Given the description of an element on the screen output the (x, y) to click on. 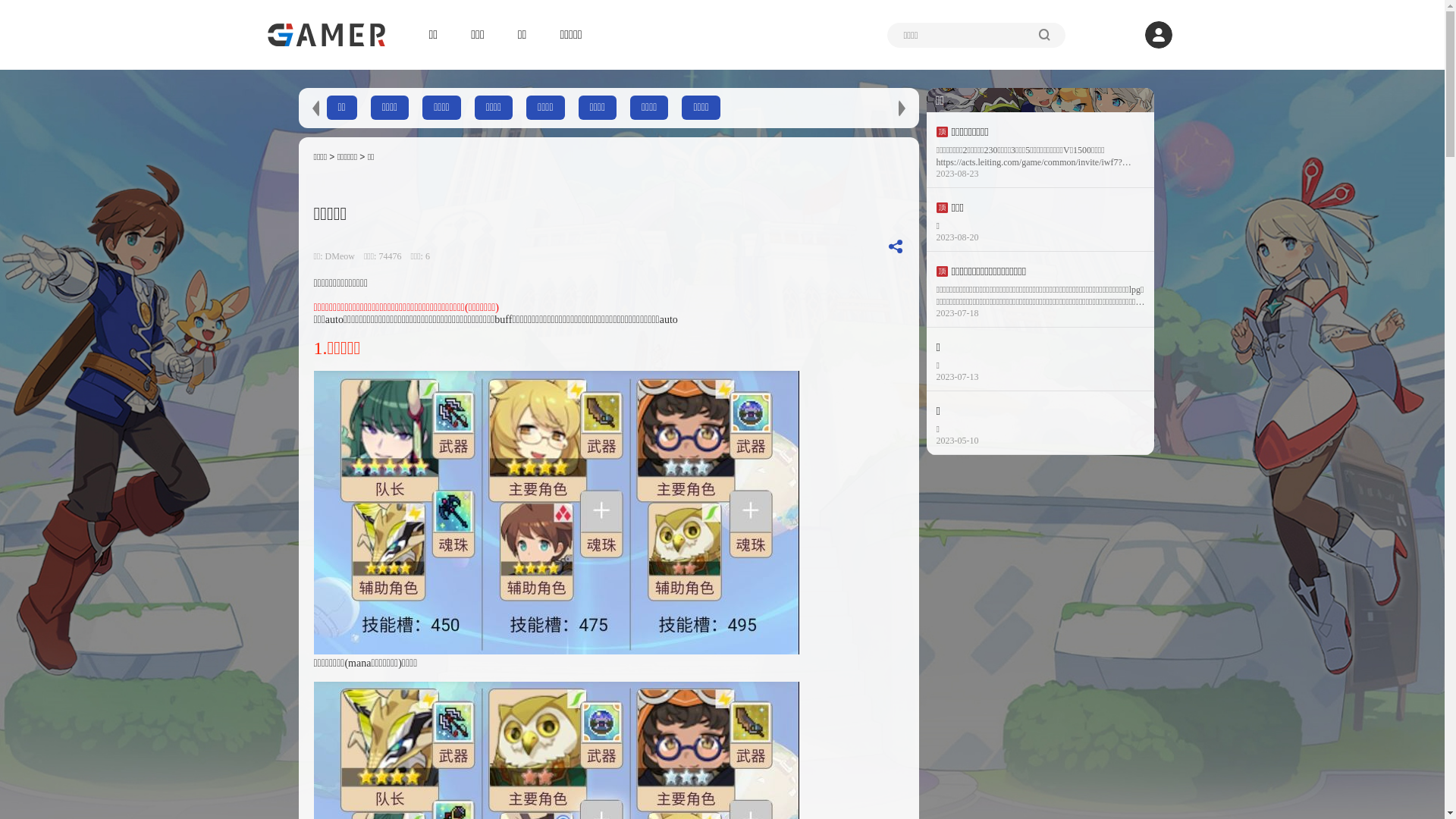
DMeow    Element type: text (343, 256)
74476    Element type: text (392, 256)
6 Element type: text (427, 256)
